Given the description of an element on the screen output the (x, y) to click on. 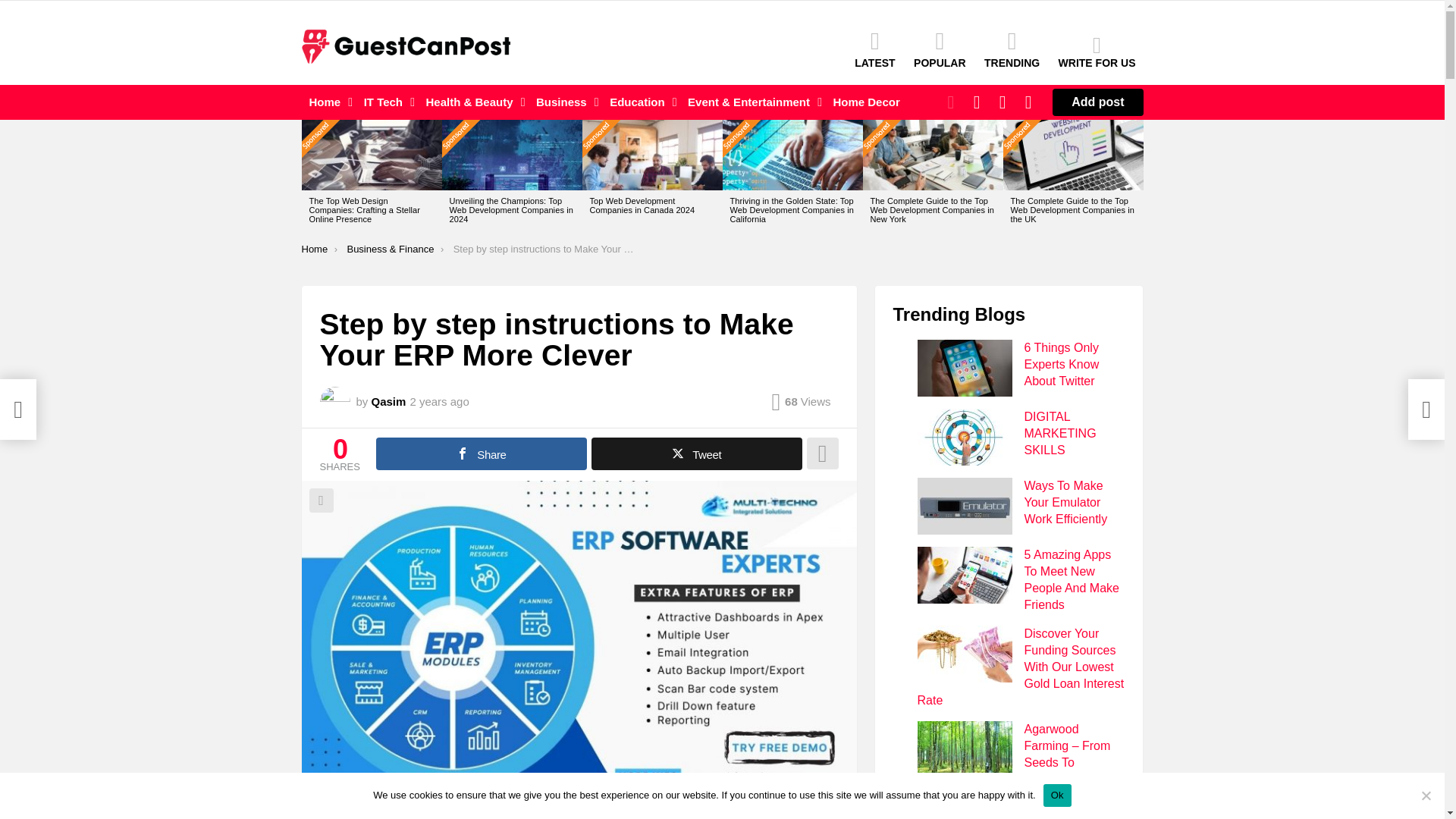
TRENDING (1011, 48)
Posts by Qasim Khalid (388, 400)
Top Web Development Companies in Canada 2024 (652, 154)
POPULAR (938, 48)
Business (563, 101)
Home (327, 101)
LATEST (874, 48)
IT Tech (385, 101)
December 9, 2022, 11:52 am (438, 401)
Education (639, 101)
